Given the description of an element on the screen output the (x, y) to click on. 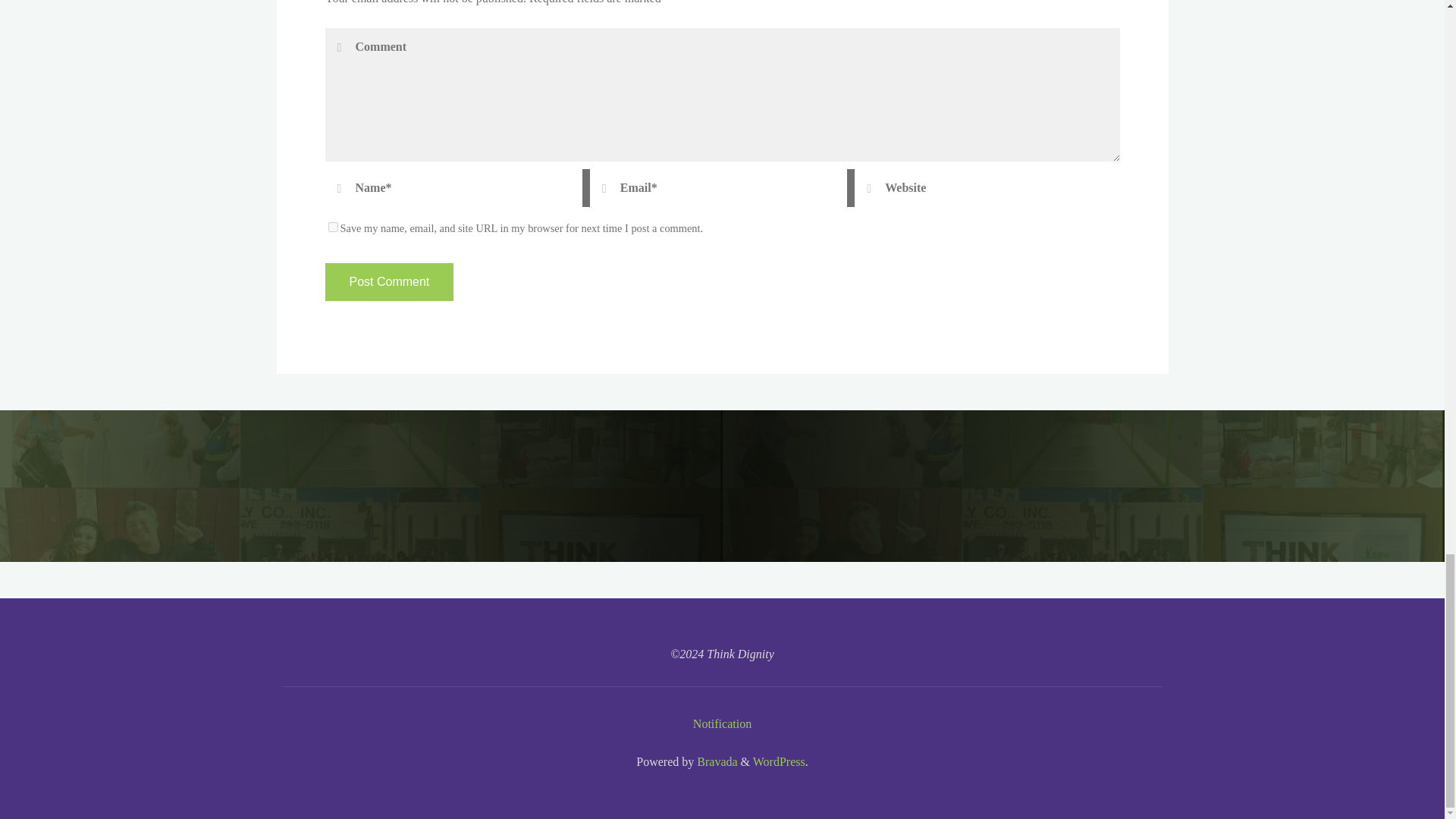
Bravada WordPress Theme by Cryout Creations (715, 761)
Semantic Personal Publishing Platform (778, 761)
yes (332, 226)
Post Comment (388, 281)
